Given the description of an element on the screen output the (x, y) to click on. 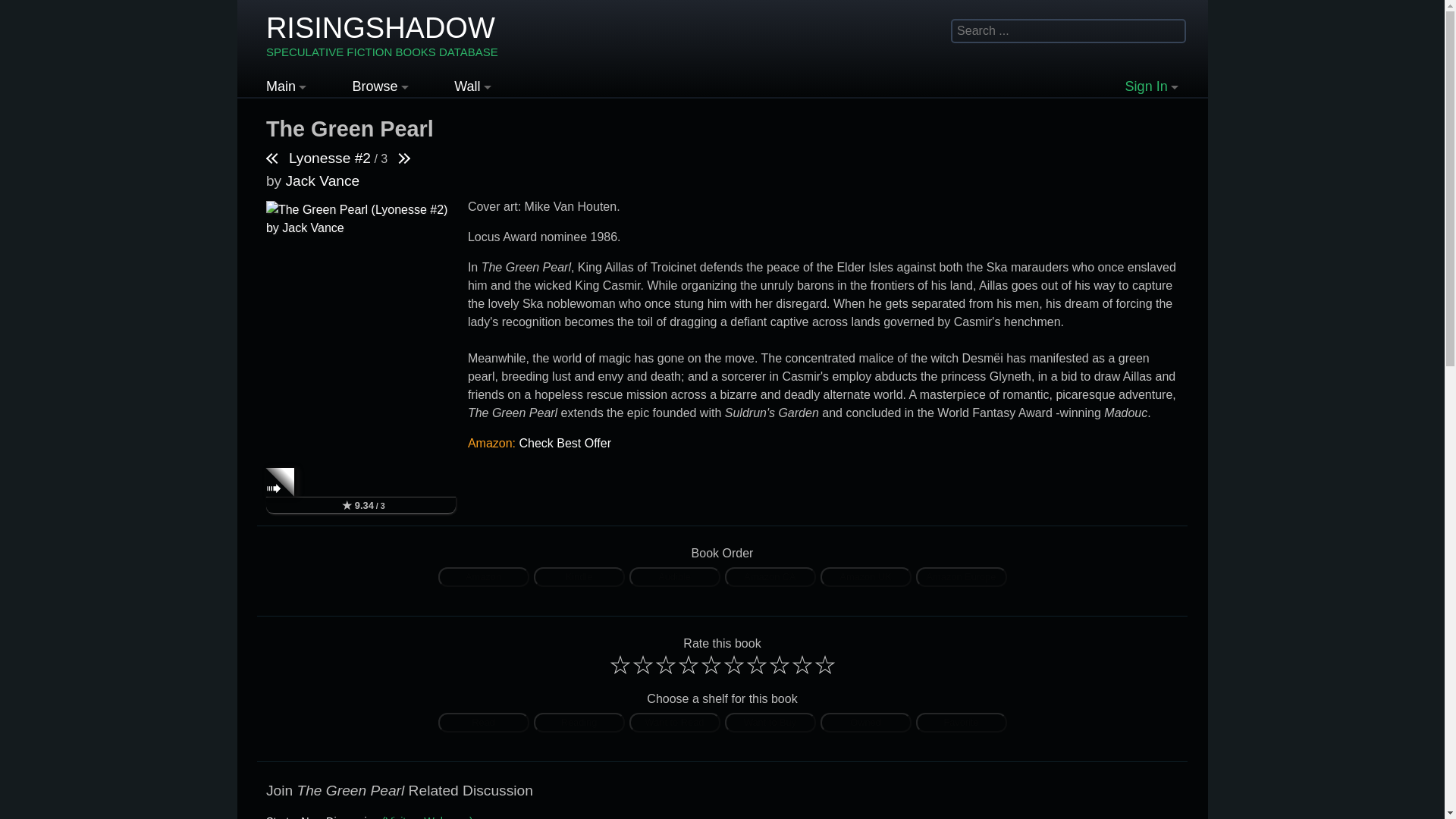
Reading (579, 722)
Want to Read (674, 722)
Read (483, 722)
Risingshadow (381, 36)
Amazon CA (769, 575)
Want to Buy (770, 722)
Audible (674, 575)
Reading (579, 722)
Check Best Offer (564, 442)
Kindle (578, 575)
Amazon (483, 575)
Audible (674, 577)
Amazon CA (770, 577)
Want to Read (674, 722)
Want to Buy (770, 722)
